Given the description of an element on the screen output the (x, y) to click on. 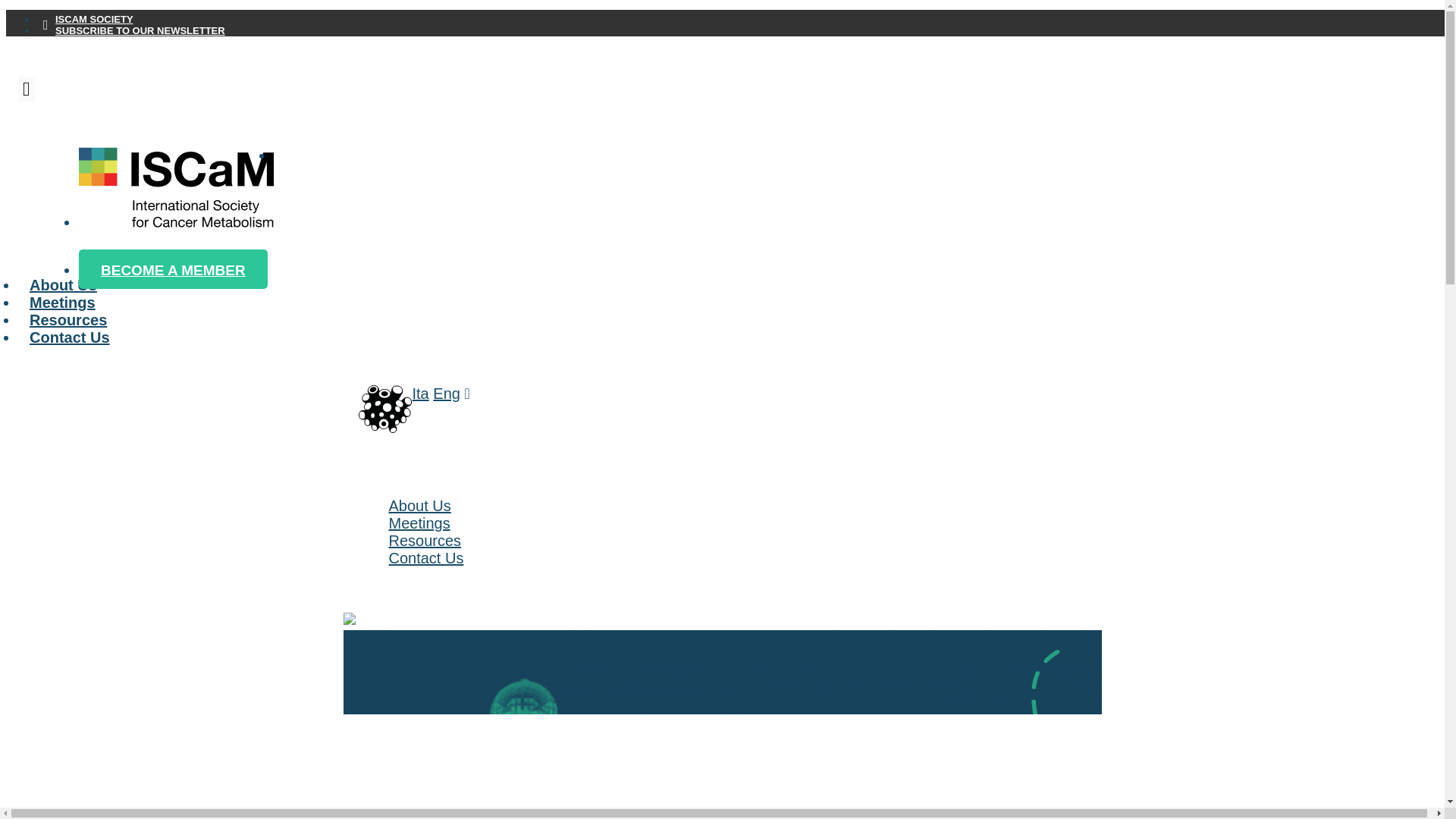
Eng (446, 393)
Meetings (418, 523)
Ita (420, 393)
SUBSCRIBE TO OUR NEWSLETTER (140, 30)
About Us (418, 505)
Resources (424, 540)
Contact Us (425, 557)
ISCAM SOCIETY (94, 19)
